Given the description of an element on the screen output the (x, y) to click on. 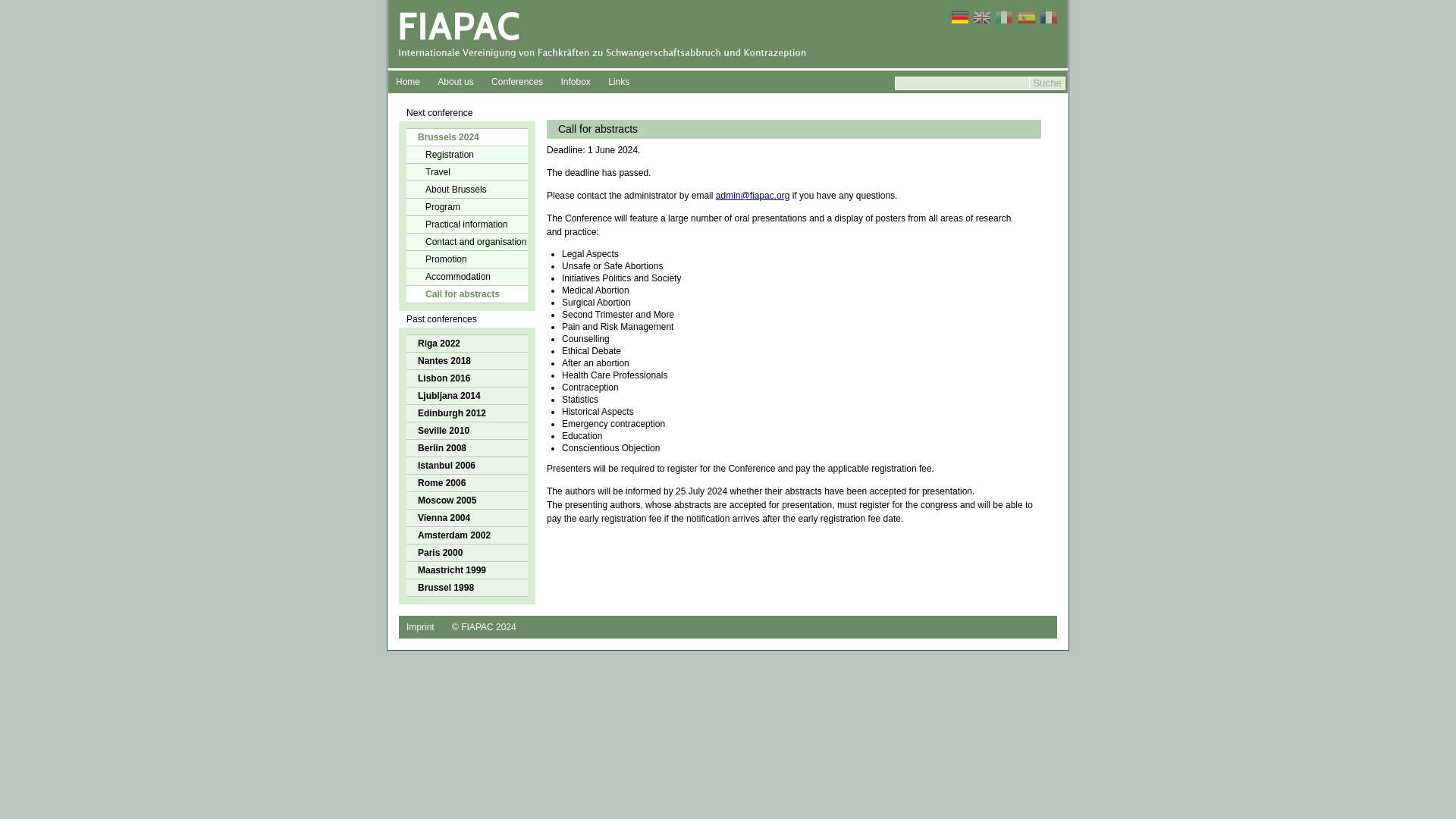
Call for abstracts (466, 294)
Infobox (574, 81)
Links (618, 81)
About us (454, 81)
Accommodation (466, 276)
Home (408, 81)
Program (466, 207)
Registration (466, 154)
Suche (1047, 83)
Conferences (516, 81)
